Given the description of an element on the screen output the (x, y) to click on. 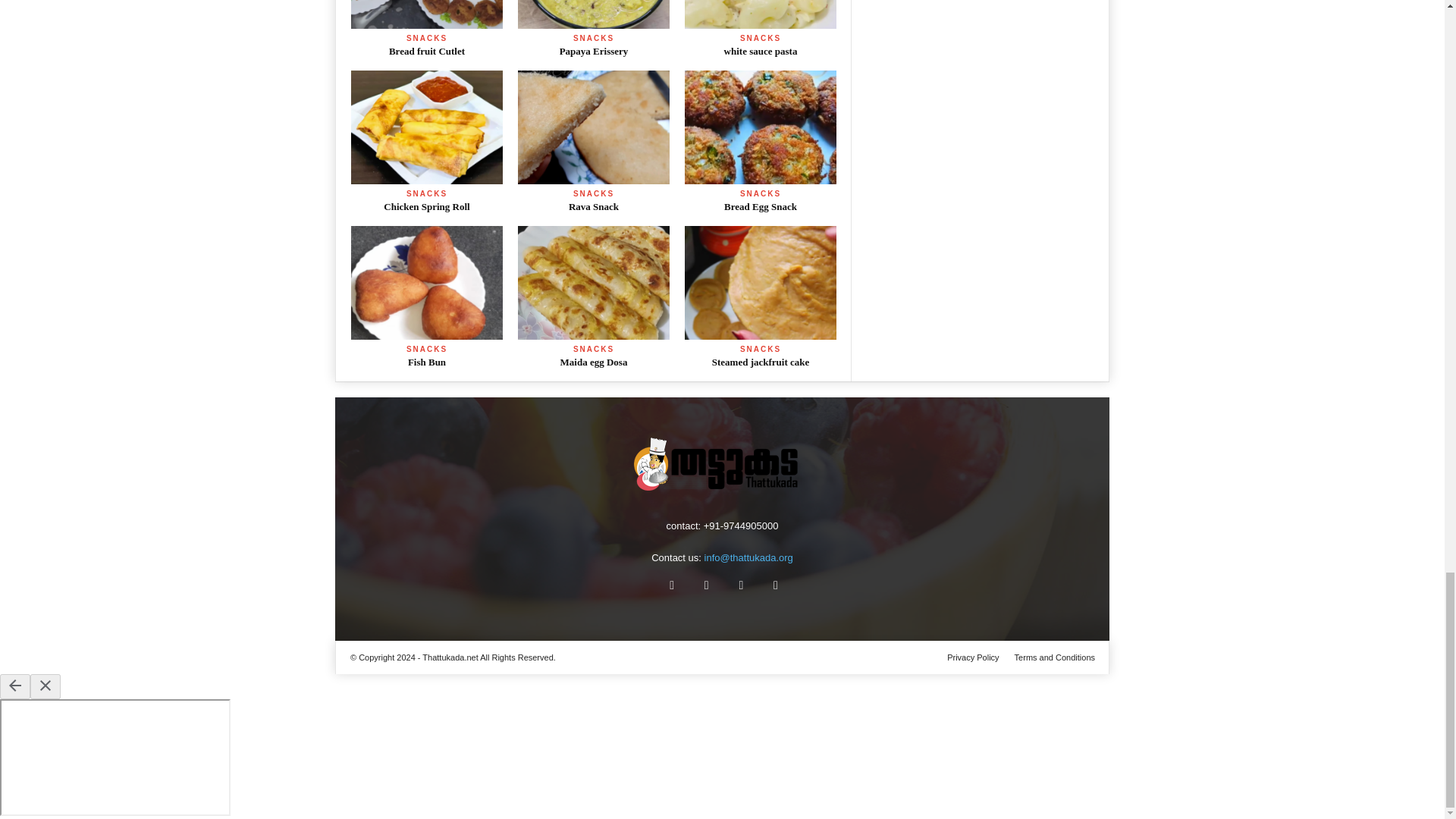
Bread fruit Cutlet (426, 14)
